Given the description of an element on the screen output the (x, y) to click on. 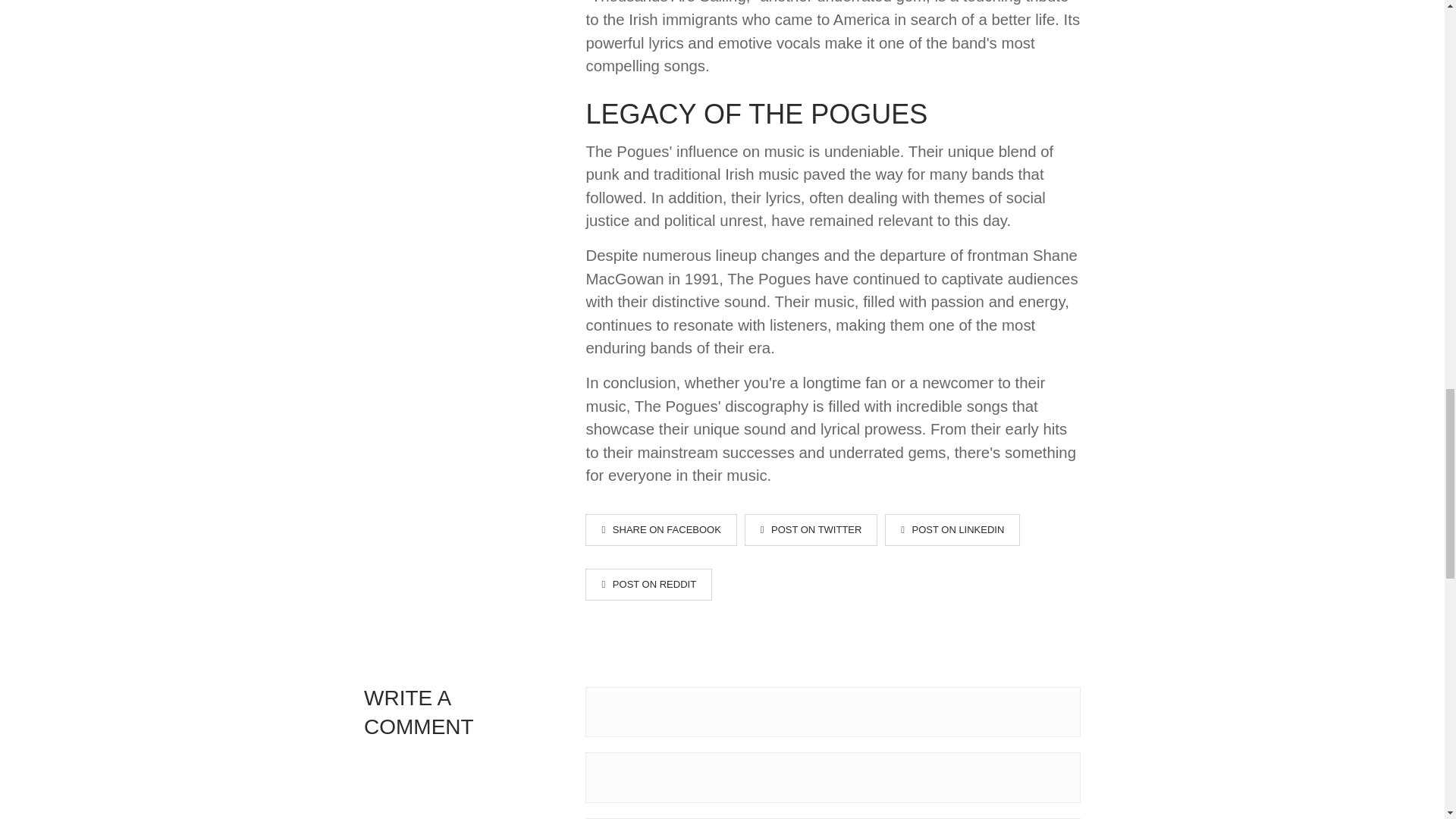
POST ON TWITTER (810, 530)
Facebook (660, 530)
SHARE ON FACEBOOK (660, 530)
Name (832, 712)
Twitter (810, 530)
POST ON LINKEDIN (952, 530)
Linkedin (952, 530)
Reddit (648, 584)
POST ON REDDIT (648, 584)
Email (832, 777)
